Given the description of an element on the screen output the (x, y) to click on. 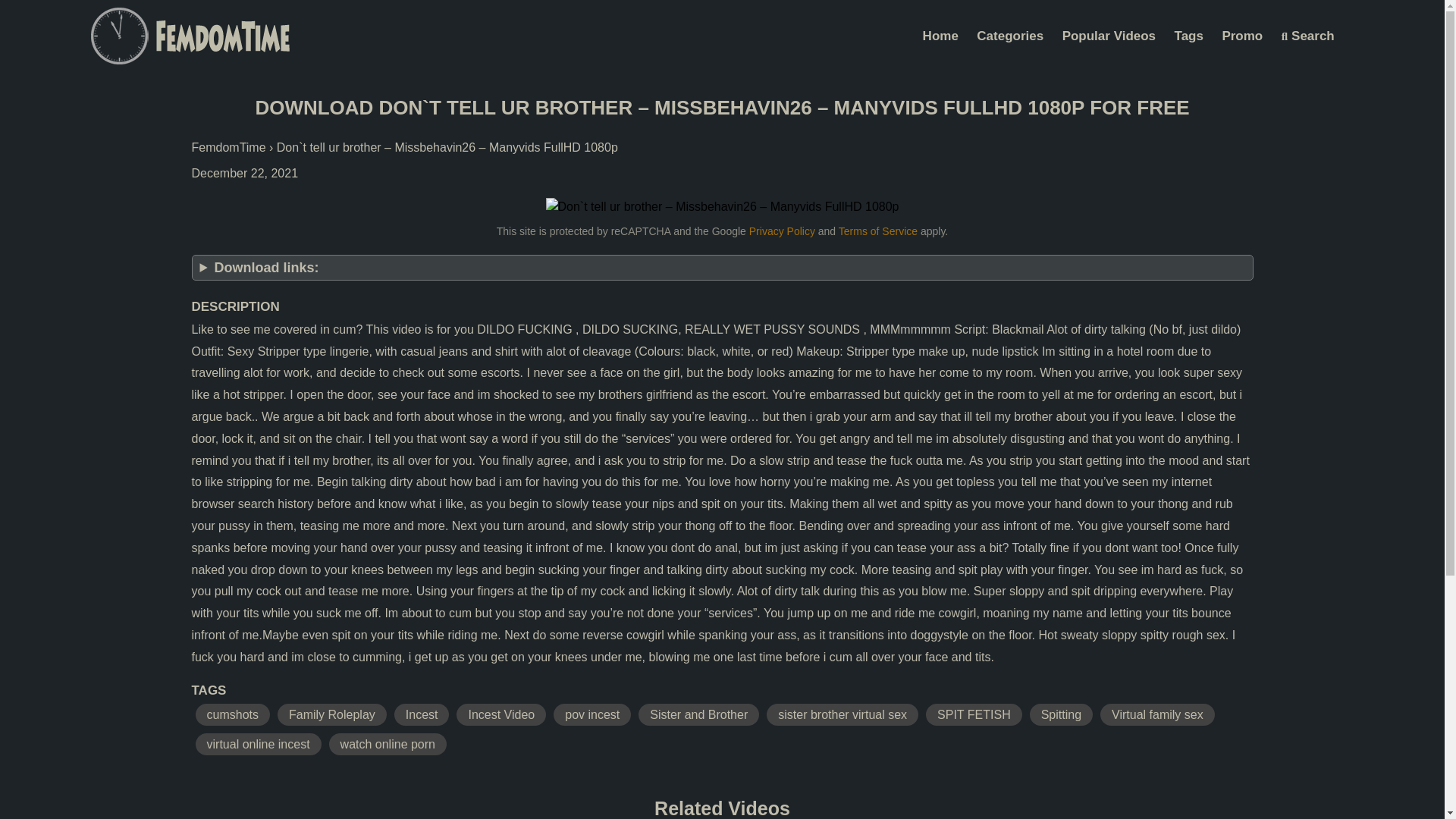
Family Roleplay (332, 714)
SPIT FETISH (974, 714)
Privacy Policy (782, 231)
Promo (1241, 35)
watch online porn (387, 744)
cumshots (232, 714)
Virtual family sex (1157, 714)
Incest (421, 714)
Incest Video (501, 714)
Tags (1189, 35)
